Given the description of an element on the screen output the (x, y) to click on. 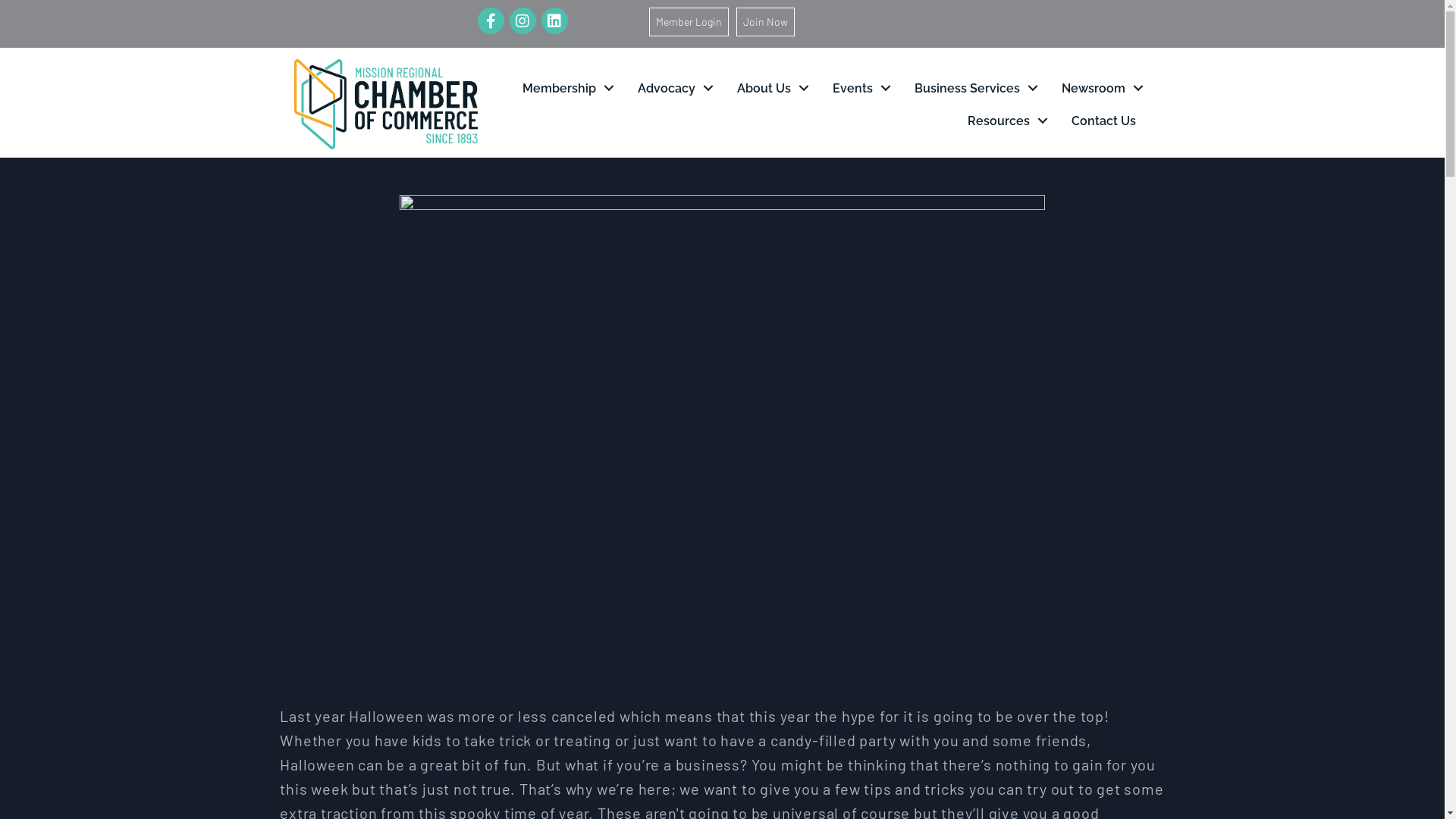
Advocacy Element type: text (671, 88)
MRCC_logo-horiz Element type: hover (385, 104)
About Us Element type: text (768, 88)
Join Now Element type: text (765, 21)
Contact Us Element type: text (1103, 120)
Business Services Element type: text (972, 88)
Resources Element type: text (1003, 120)
Membership Element type: text (564, 88)
Member Login Element type: text (688, 21)
Events Element type: text (857, 88)
Newsroom Element type: text (1098, 88)
